Given the description of an element on the screen output the (x, y) to click on. 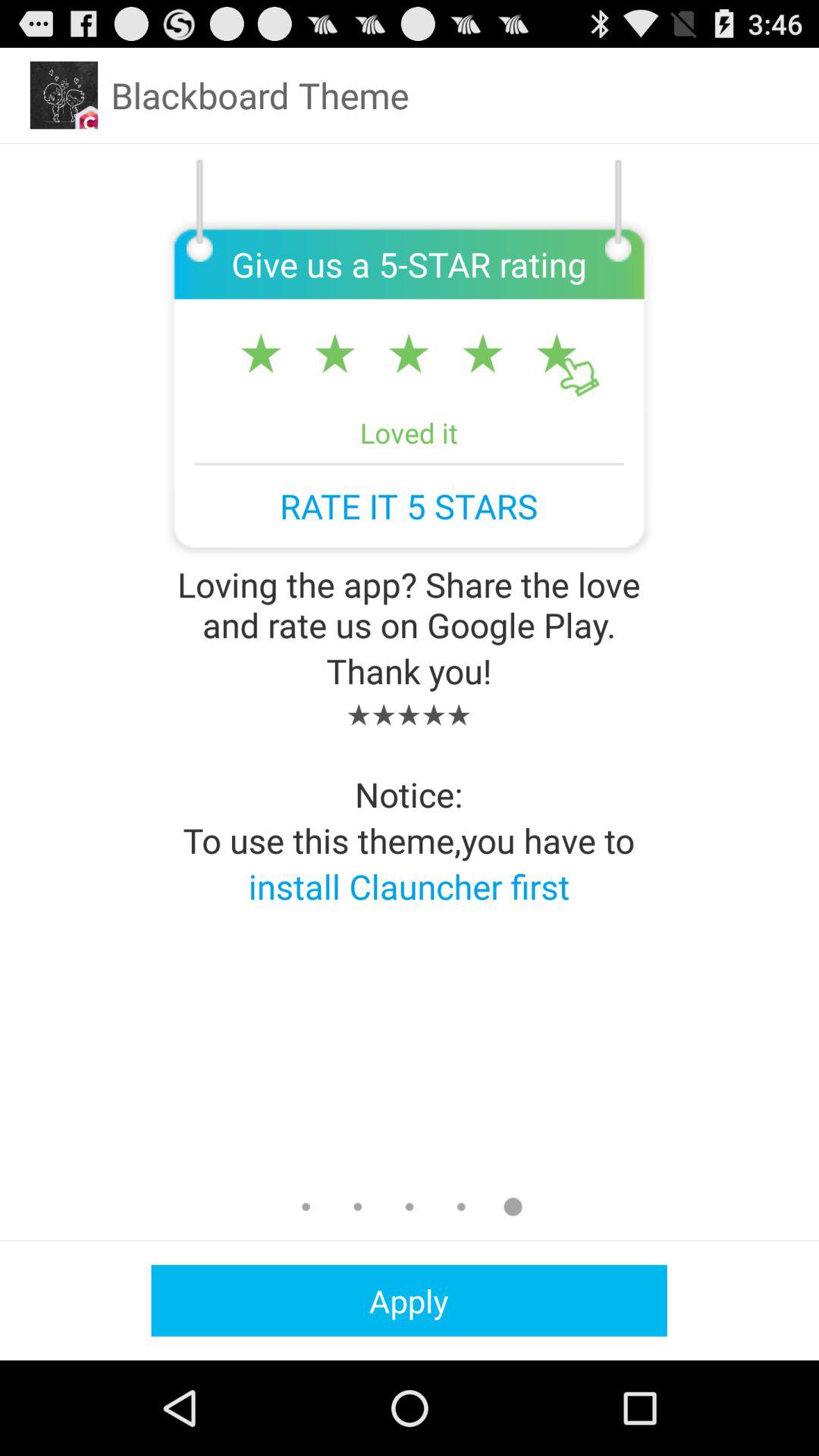
press the app below to use this (409, 886)
